Given the description of an element on the screen output the (x, y) to click on. 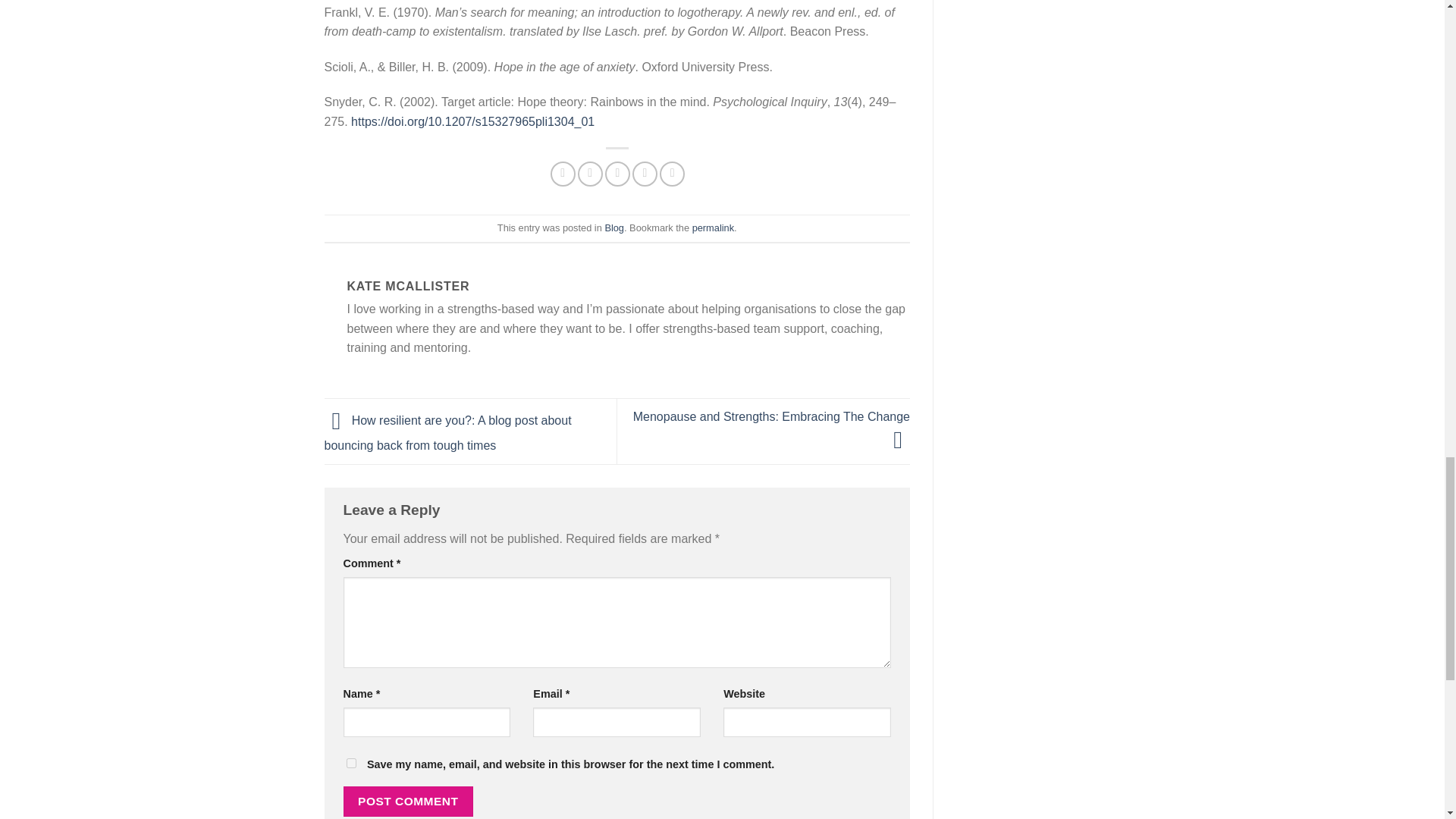
Post Comment (407, 800)
permalink (713, 227)
Share on LinkedIn (671, 173)
Pin on Pinterest (644, 173)
Share on Facebook (562, 173)
Email to a Friend (617, 173)
Menopause and Strengths: Embracing The Change (771, 428)
Post Comment (407, 800)
Share on Twitter (590, 173)
yes (350, 763)
Permalink to The Power of Hope in Challenging Times (713, 227)
Blog (614, 227)
